Given the description of an element on the screen output the (x, y) to click on. 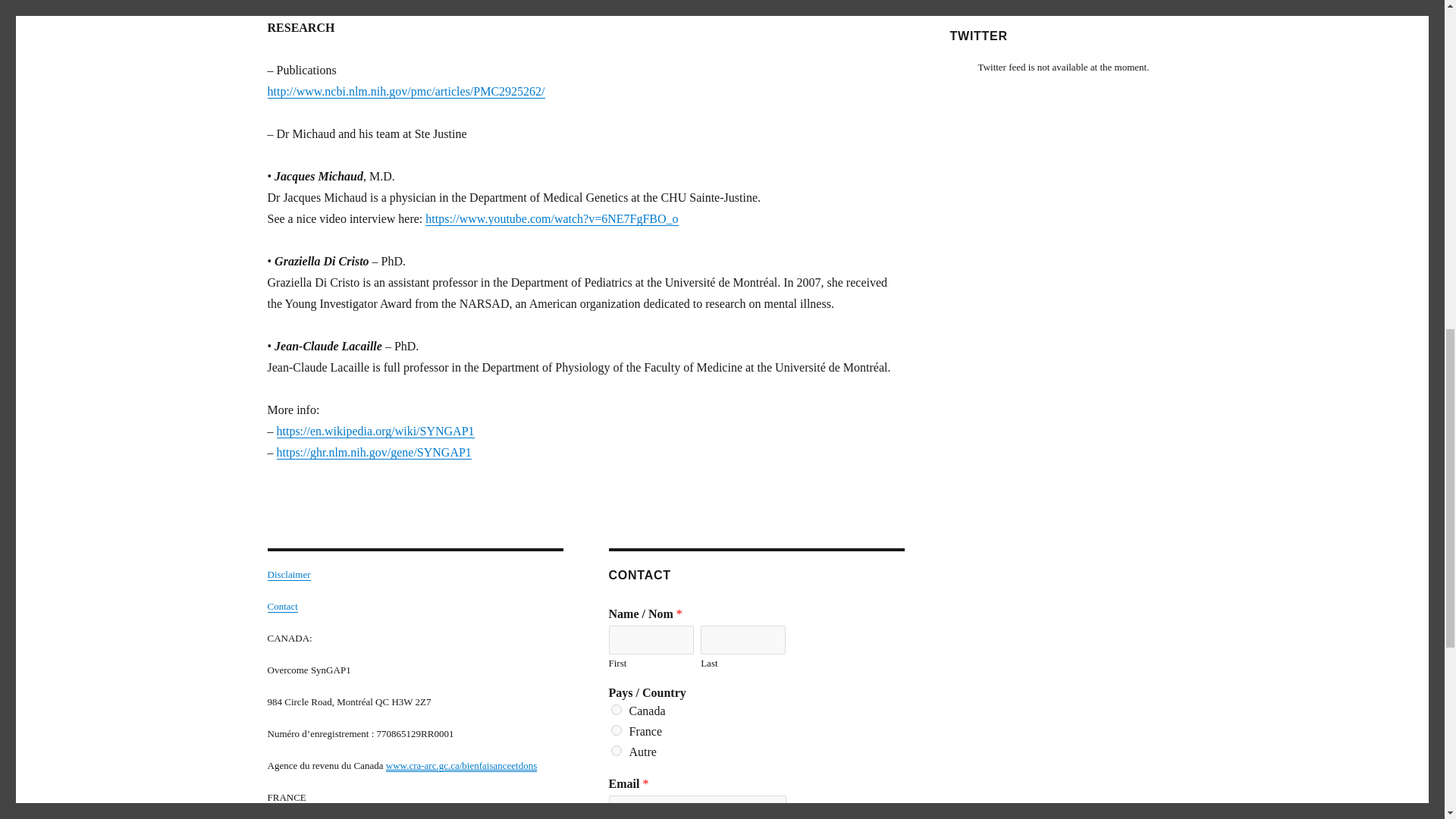
Disclaimer (288, 573)
Autre (616, 750)
France (616, 729)
Canada (616, 709)
Contact (281, 605)
